Given the description of an element on the screen output the (x, y) to click on. 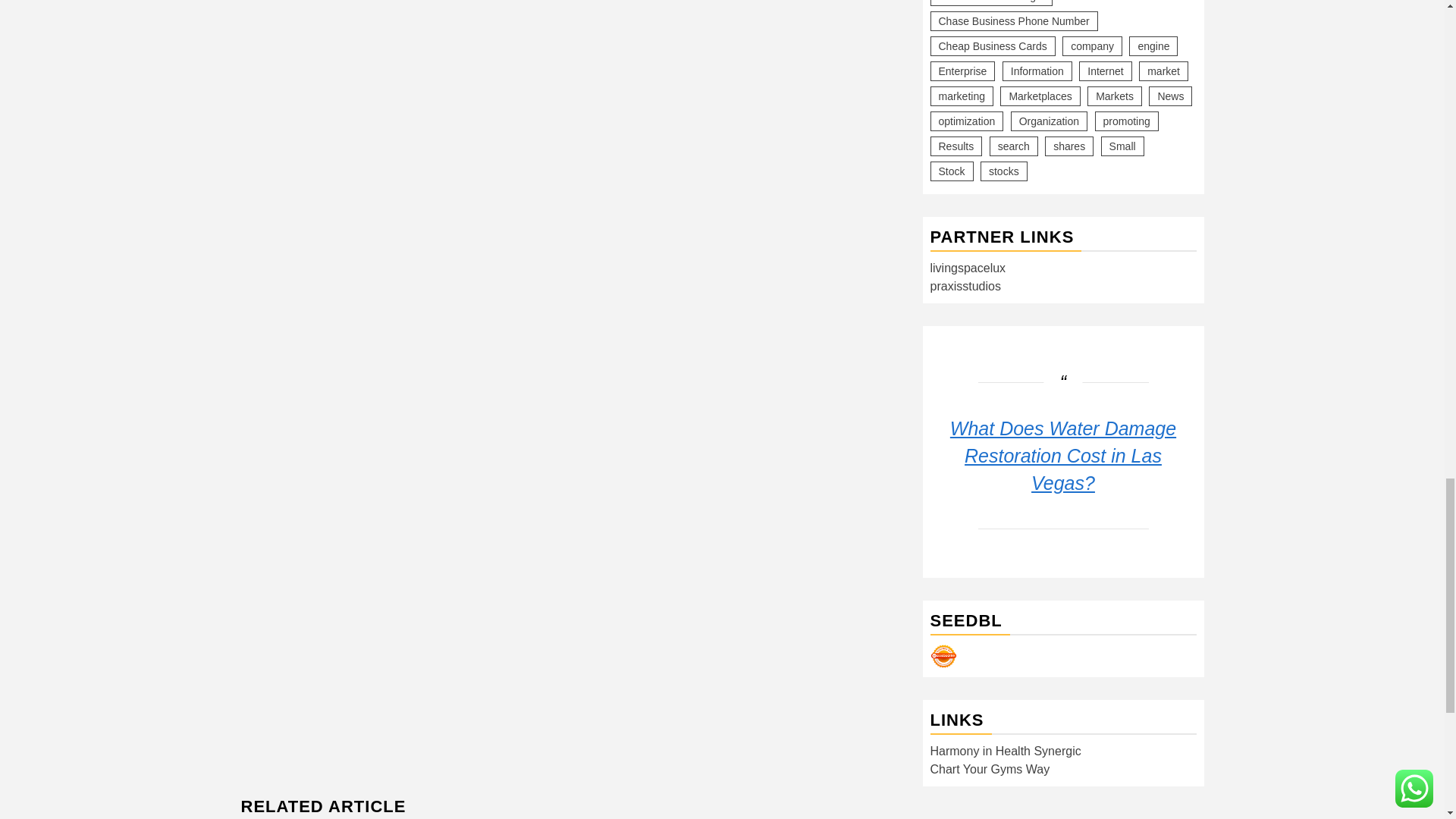
Seedbacklink (943, 655)
